Given the description of an element on the screen output the (x, y) to click on. 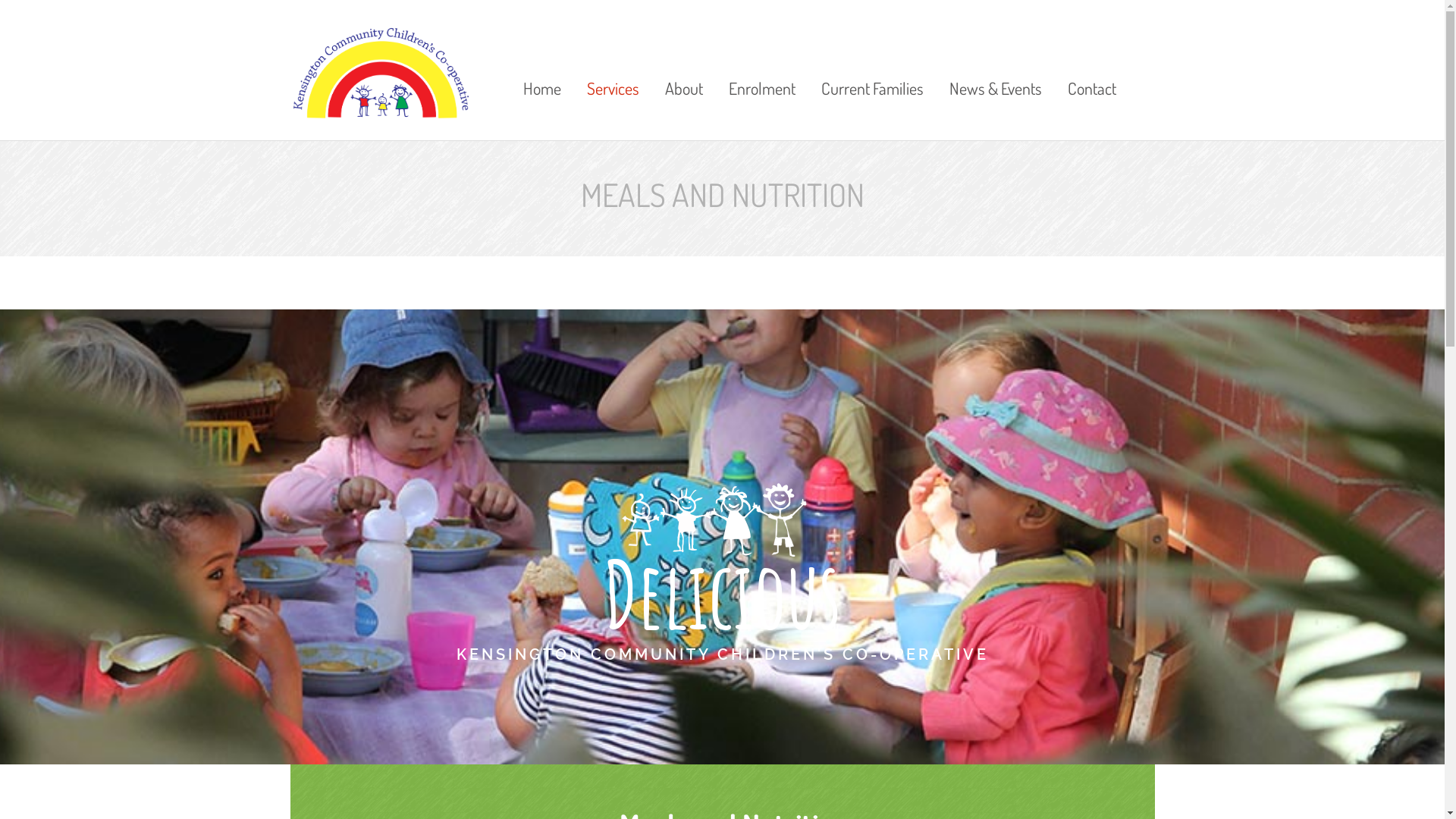
About Element type: text (683, 66)
Services Element type: text (612, 66)
Home Element type: text (541, 66)
Current Families Element type: text (872, 66)
News & Events Element type: text (995, 66)
Contact Element type: text (1086, 66)
Enrolment Element type: text (761, 66)
